Given the description of an element on the screen output the (x, y) to click on. 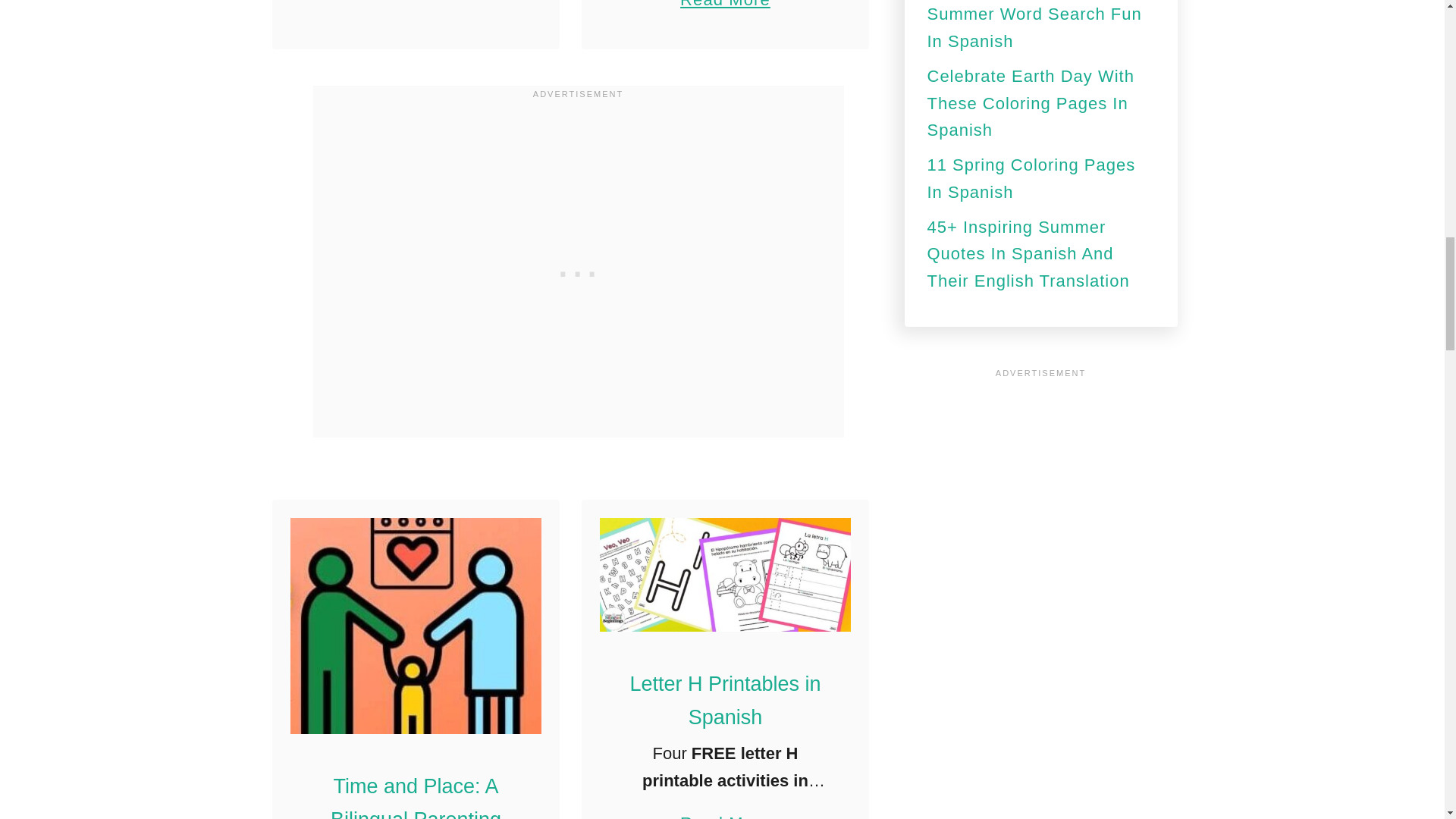
Time and Place: A Bilingual Parenting Method (415, 625)
Letter H Printables in Spanish (725, 573)
Time and Place: A Bilingual Parenting Method (415, 796)
Letter H Printables in Spanish (724, 806)
